Given the description of an element on the screen output the (x, y) to click on. 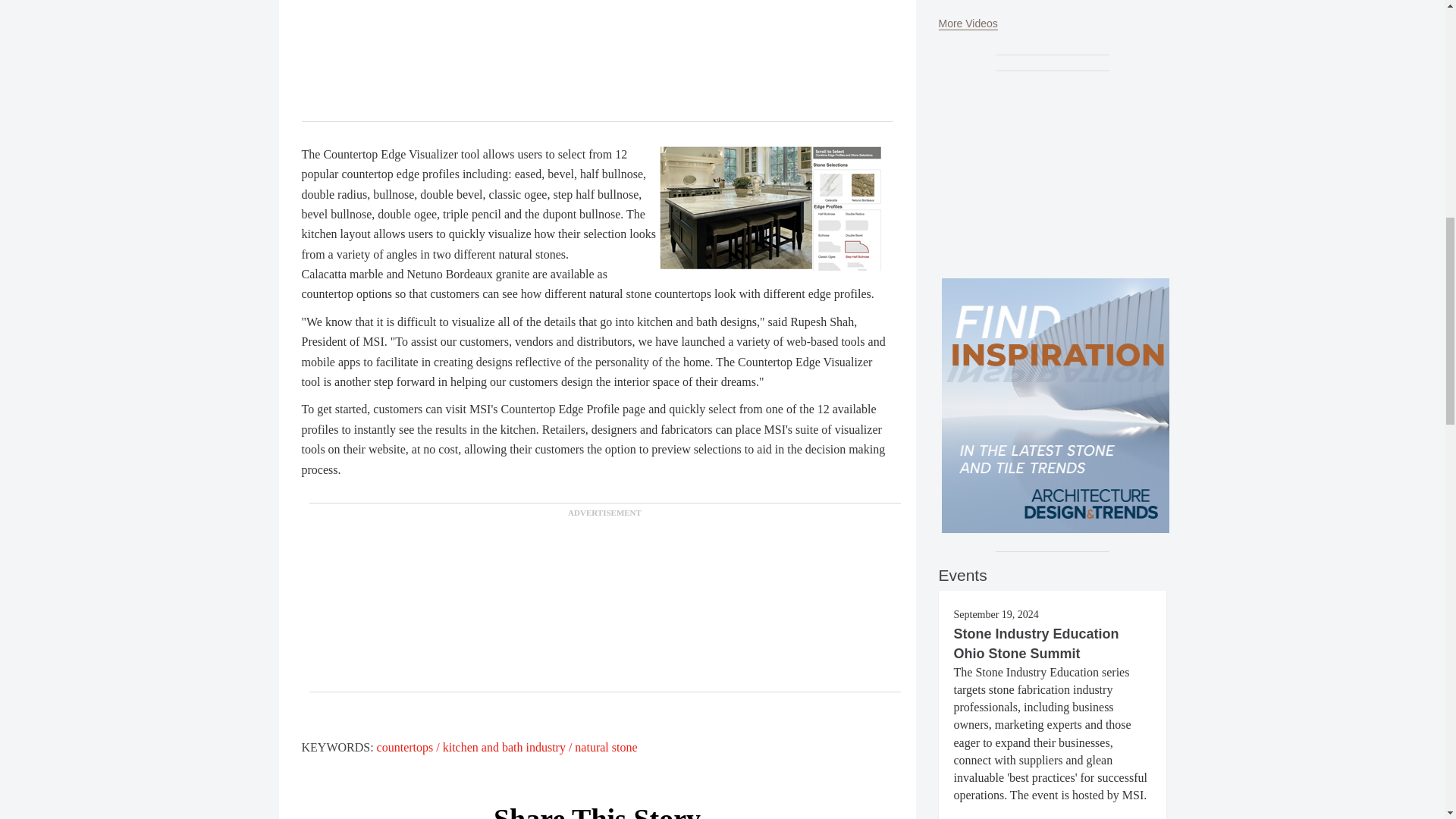
Stone Industry Education Ohio Stone Summit (1036, 643)
